Given the description of an element on the screen output the (x, y) to click on. 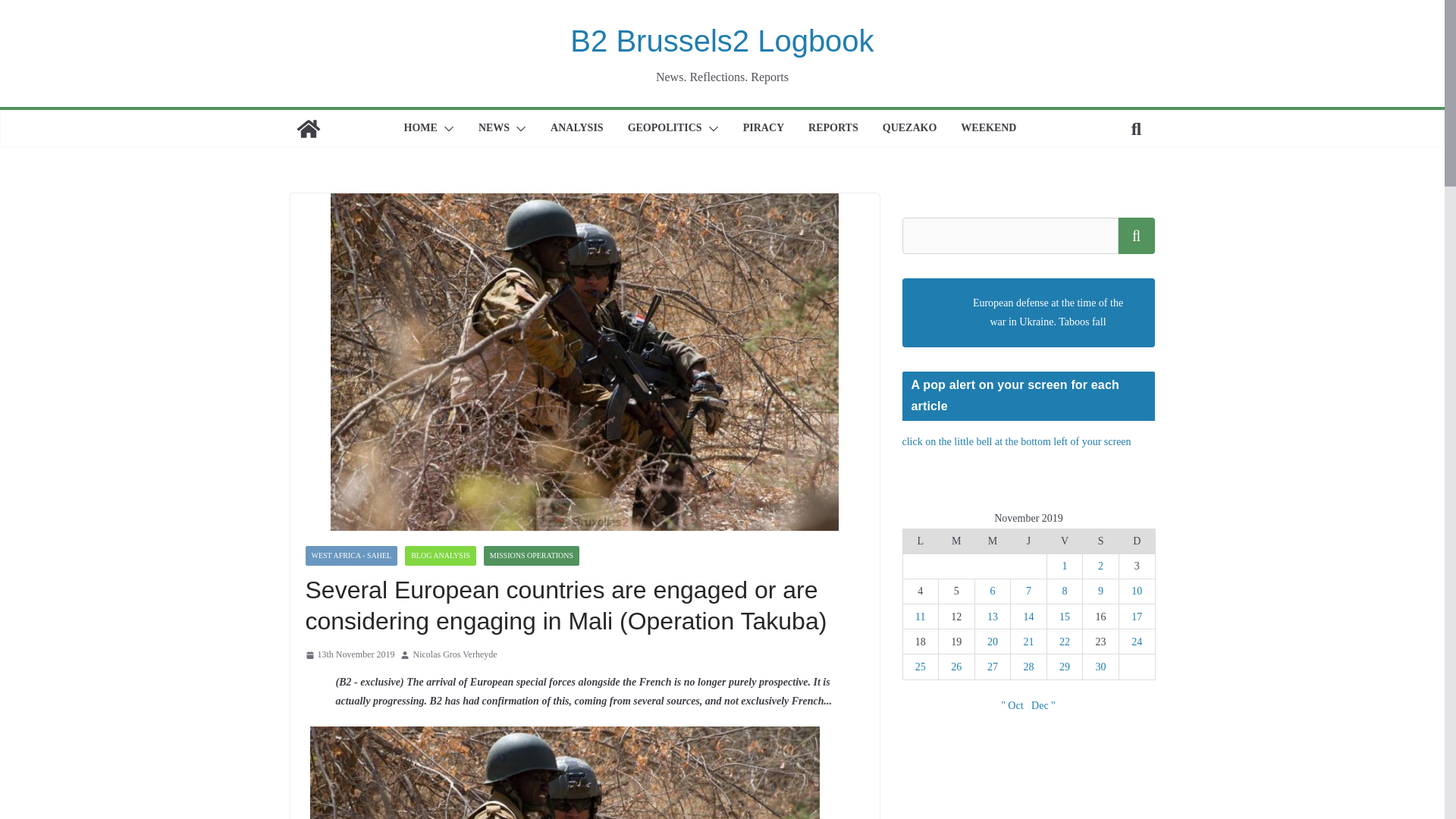
B2 Brussels2 Logbook (721, 40)
B2 Brussels2 Logbook (307, 128)
B2 Brussels2 Logbook (721, 40)
HOME (421, 128)
17:37 (349, 655)
NEWS (494, 128)
Nicolas Gros Verheyde (454, 655)
B2's online encyclopedia on geopolitical Europe (909, 128)
